Given the description of an element on the screen output the (x, y) to click on. 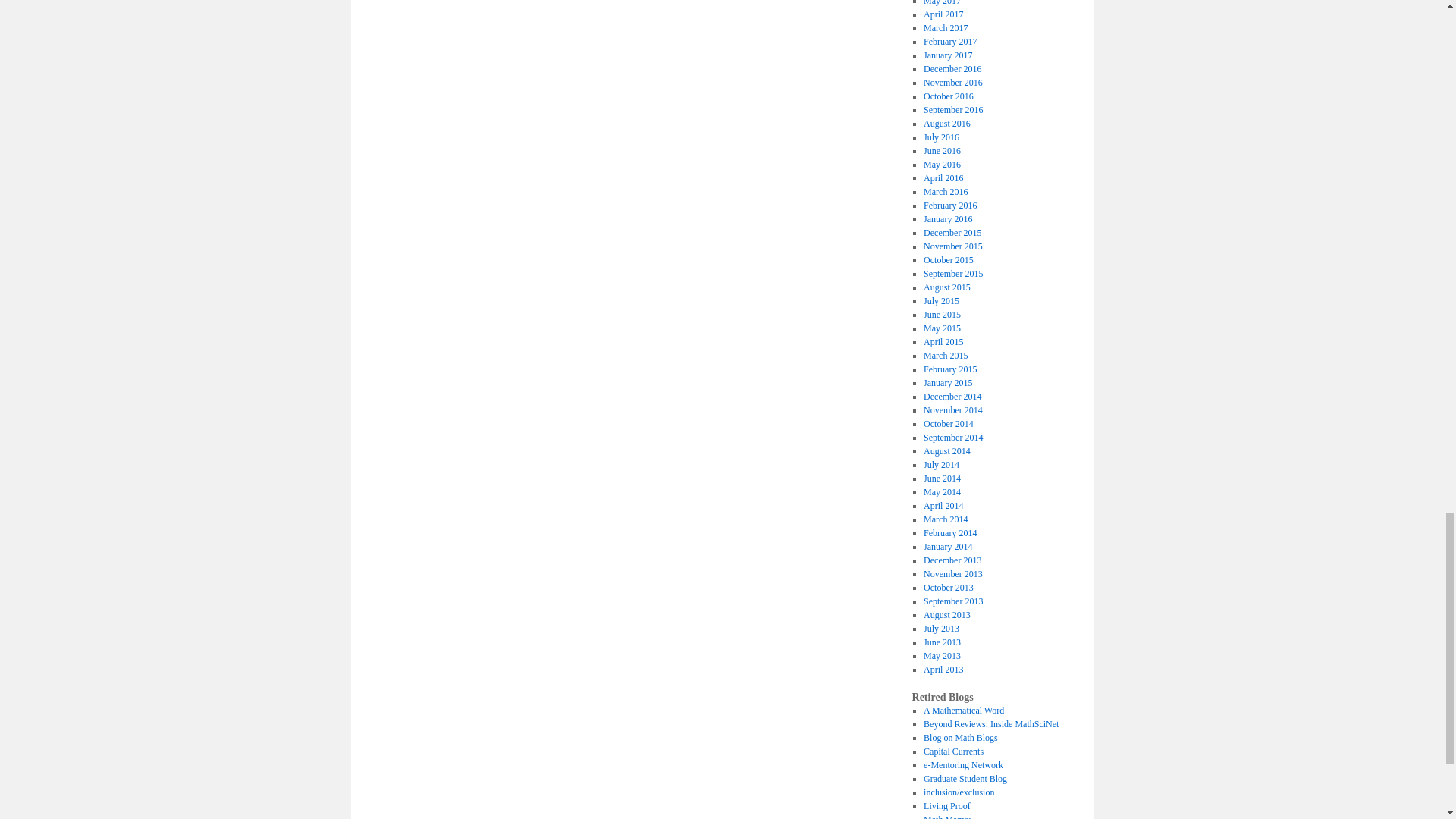
Capital Currents (953, 751)
Beyond Reviews: Inside MathSciNet (990, 724)
Blog on Math Blogs (960, 737)
A Mathematical Word (963, 710)
